Given the description of an element on the screen output the (x, y) to click on. 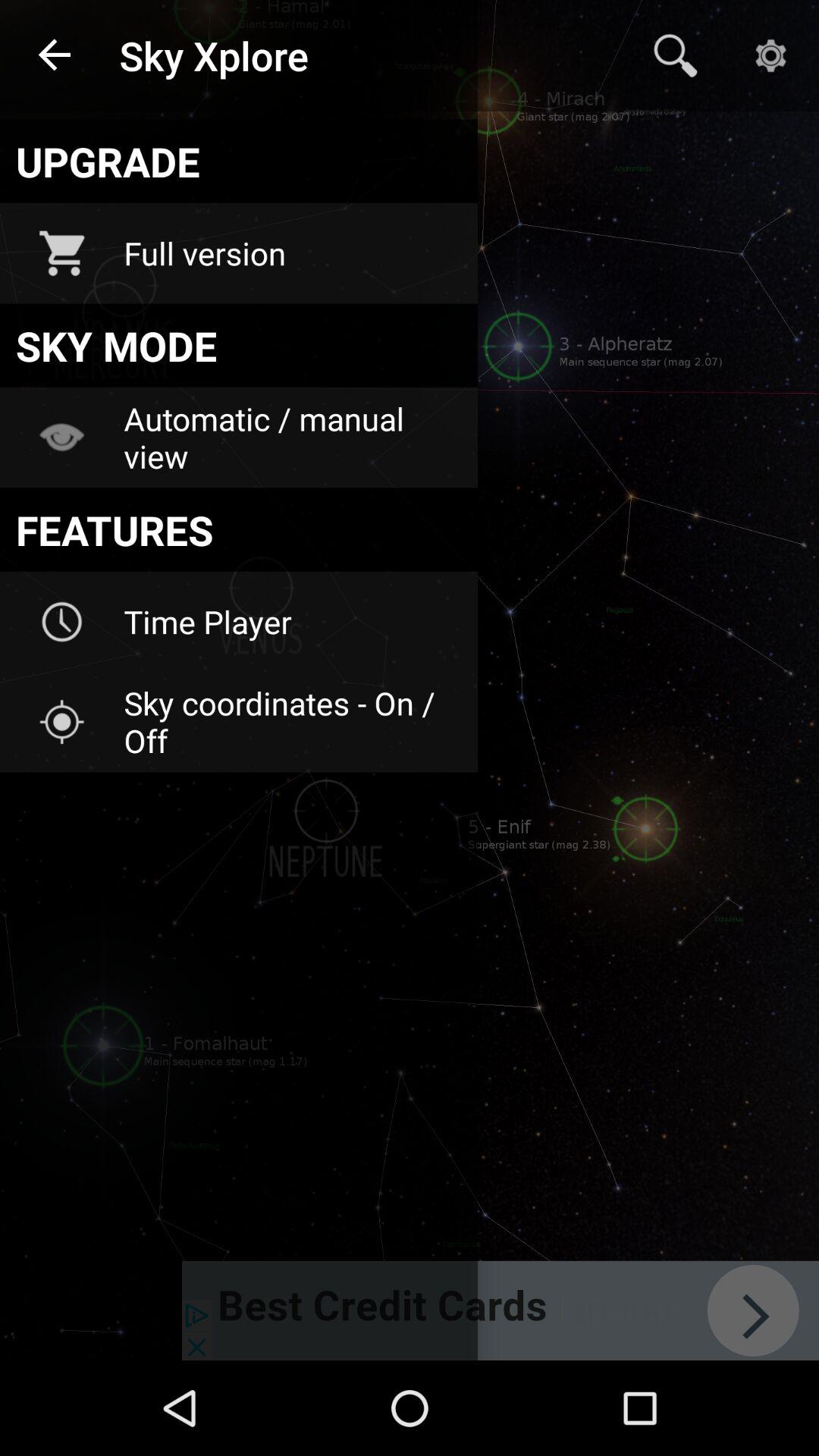
click item below the sky coordinates on icon (500, 1310)
